Given the description of an element on the screen output the (x, y) to click on. 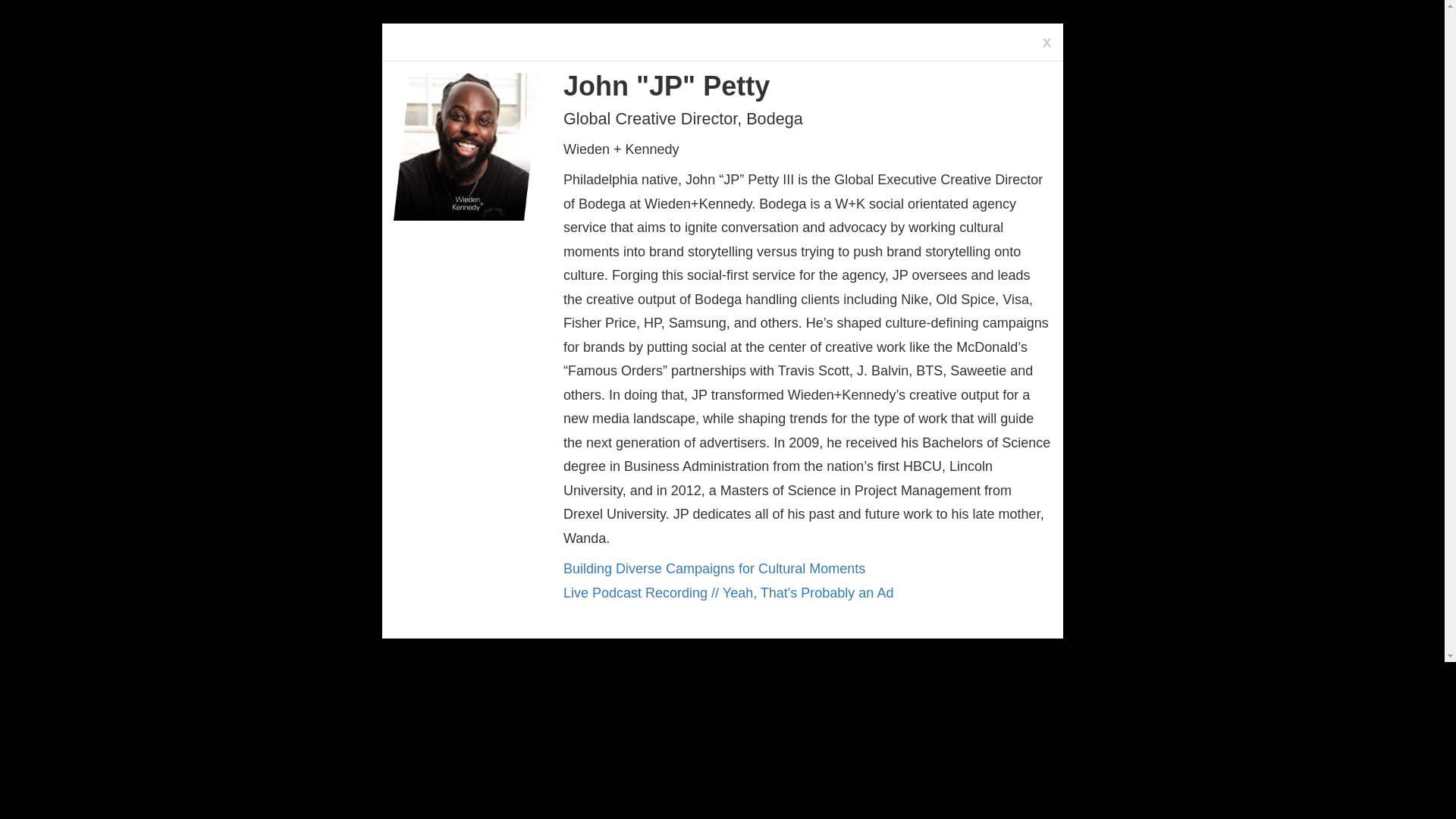
Session Details (728, 592)
Session Details (713, 568)
Building Diverse Campaigns for Cultural Moments (713, 568)
